Given the description of an element on the screen output the (x, y) to click on. 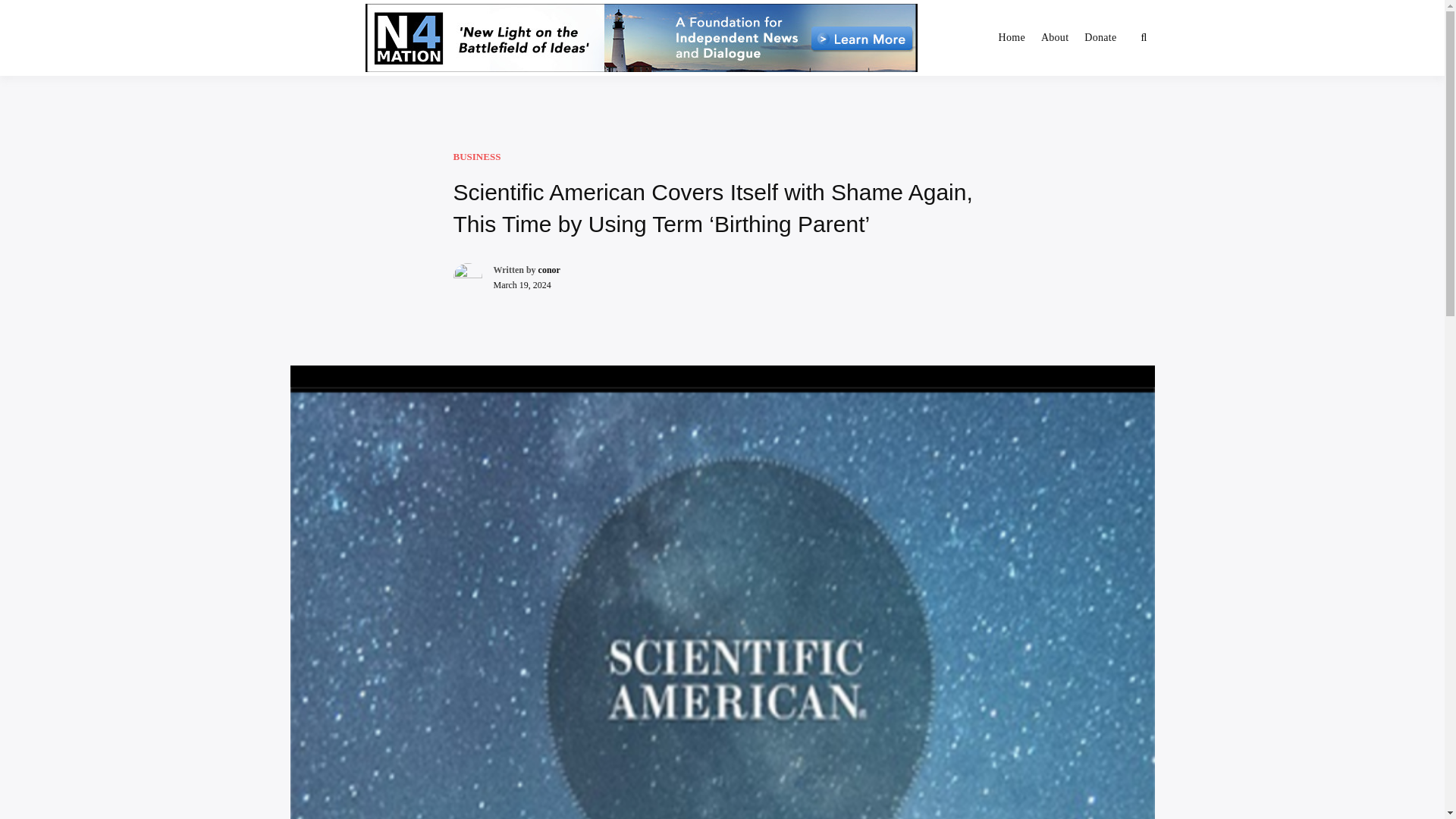
conor (549, 269)
March 19, 2024 (521, 285)
BUSINESS (476, 156)
